Given the description of an element on the screen output the (x, y) to click on. 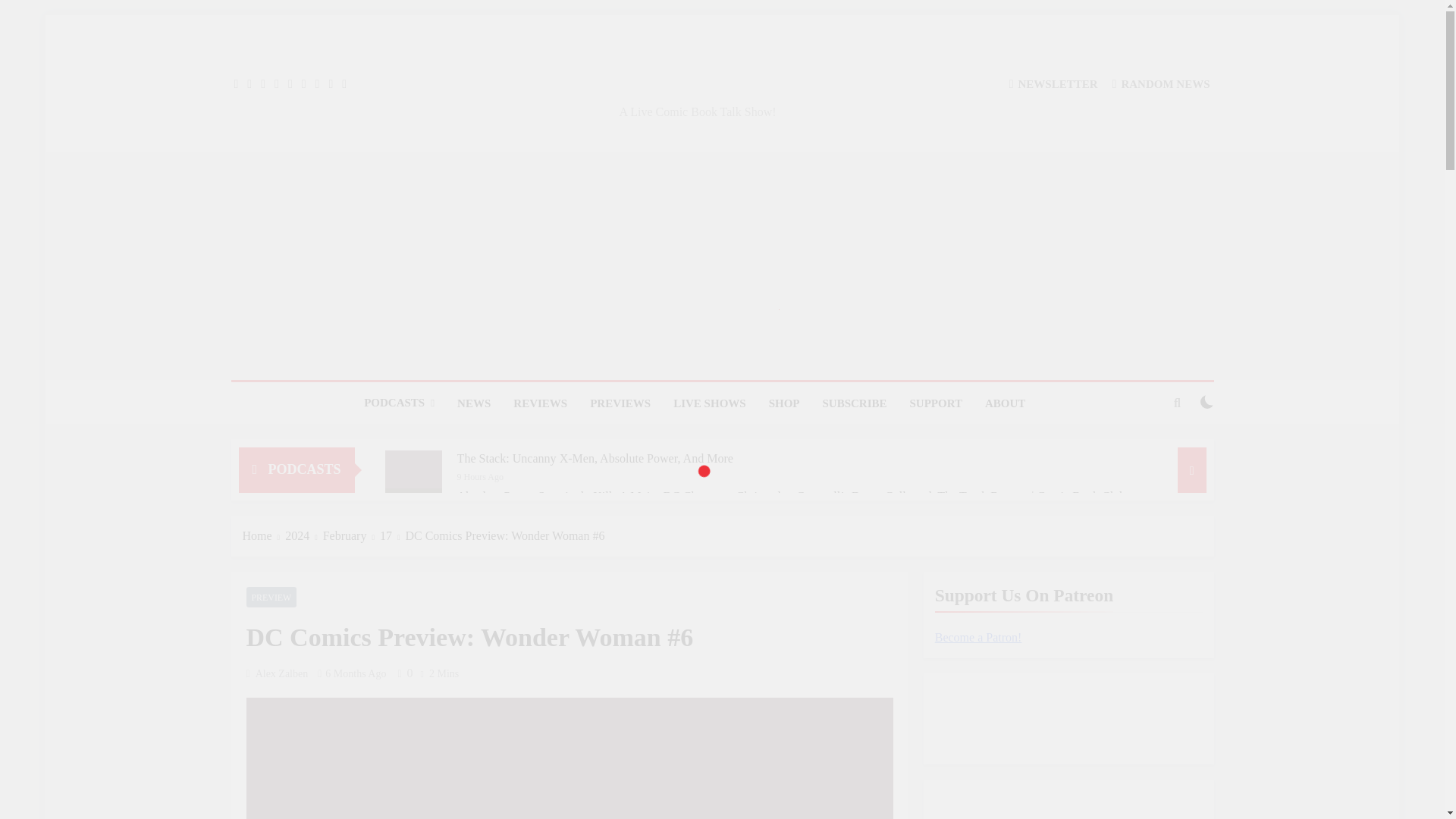
NEWS (473, 402)
RANDOM NEWS (1160, 83)
on (1206, 401)
NEWSLETTER (1053, 83)
REVIEWS (540, 402)
Comic Book Club (560, 112)
PODCASTS (398, 403)
The Stack: Uncanny X-Men, Absolute Power, And More (595, 459)
The Stack: Uncanny X-Men, Absolute Power, And More (413, 478)
